Given the description of an element on the screen output the (x, y) to click on. 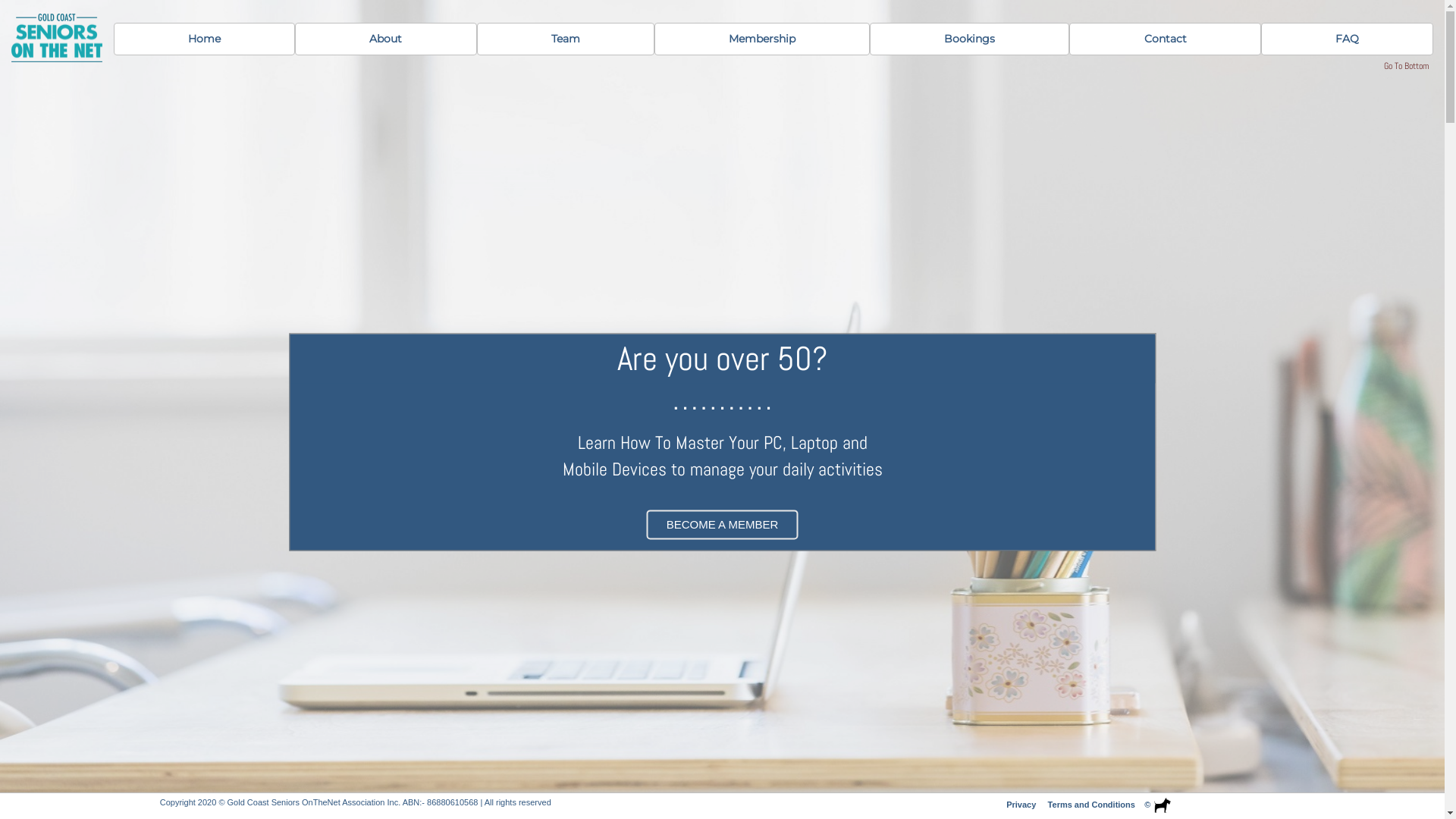
Bookings Element type: text (969, 38)
Go To Bottom Element type: text (1406, 65)
About Element type: text (385, 38)
BECOME A MEMBER Element type: text (722, 524)
Team Element type: text (565, 38)
Privacy Element type: text (1020, 804)
Membership Element type: text (761, 38)
Kal1Dog Element type: hover (1161, 805)
Terms and Conditions Element type: text (1091, 804)
Home Element type: text (203, 38)
FAQ Element type: text (1347, 38)
Contact Element type: text (1164, 38)
